Given the description of an element on the screen output the (x, y) to click on. 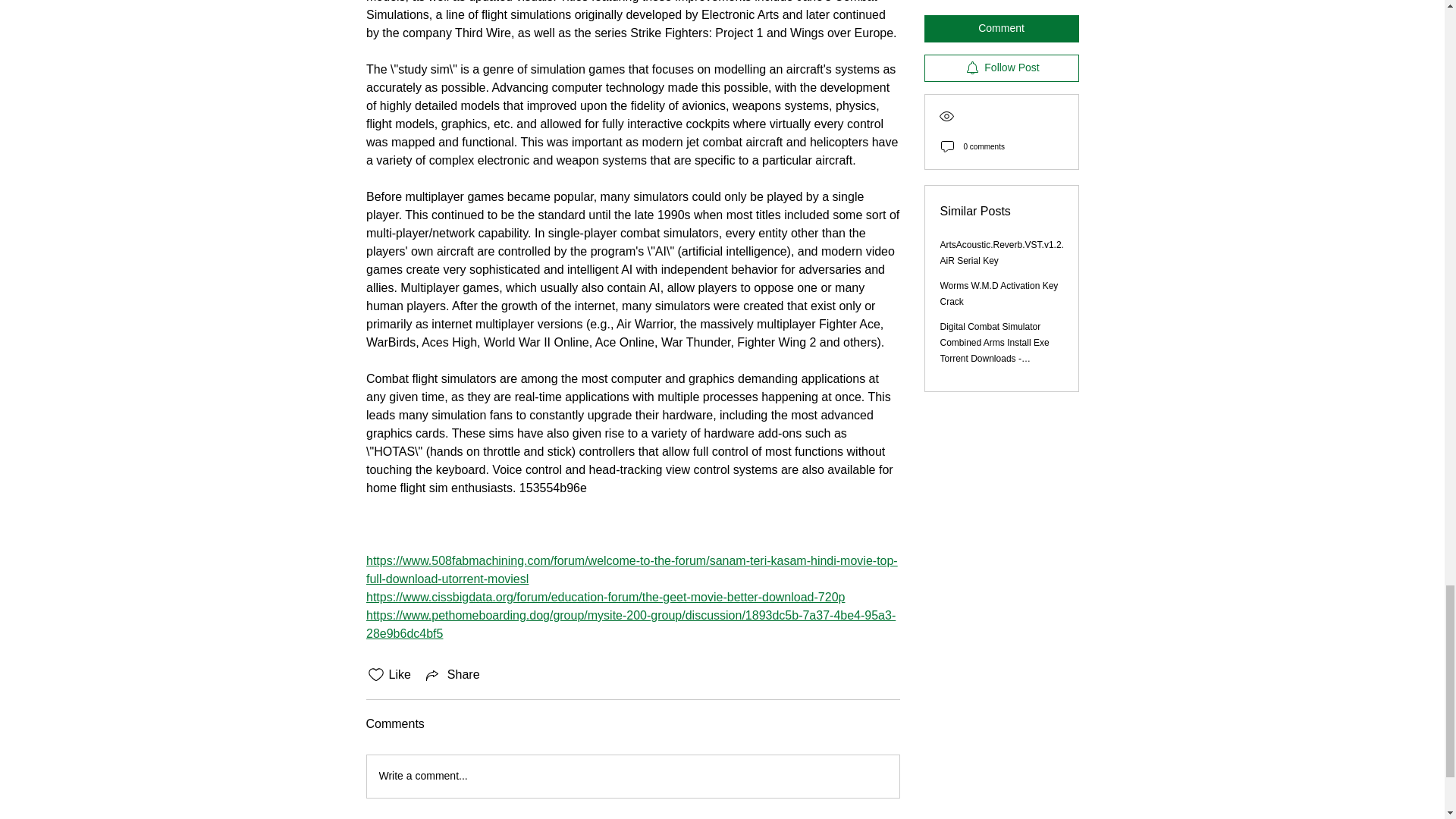
Write a comment... (632, 776)
Share (451, 674)
